Given the description of an element on the screen output the (x, y) to click on. 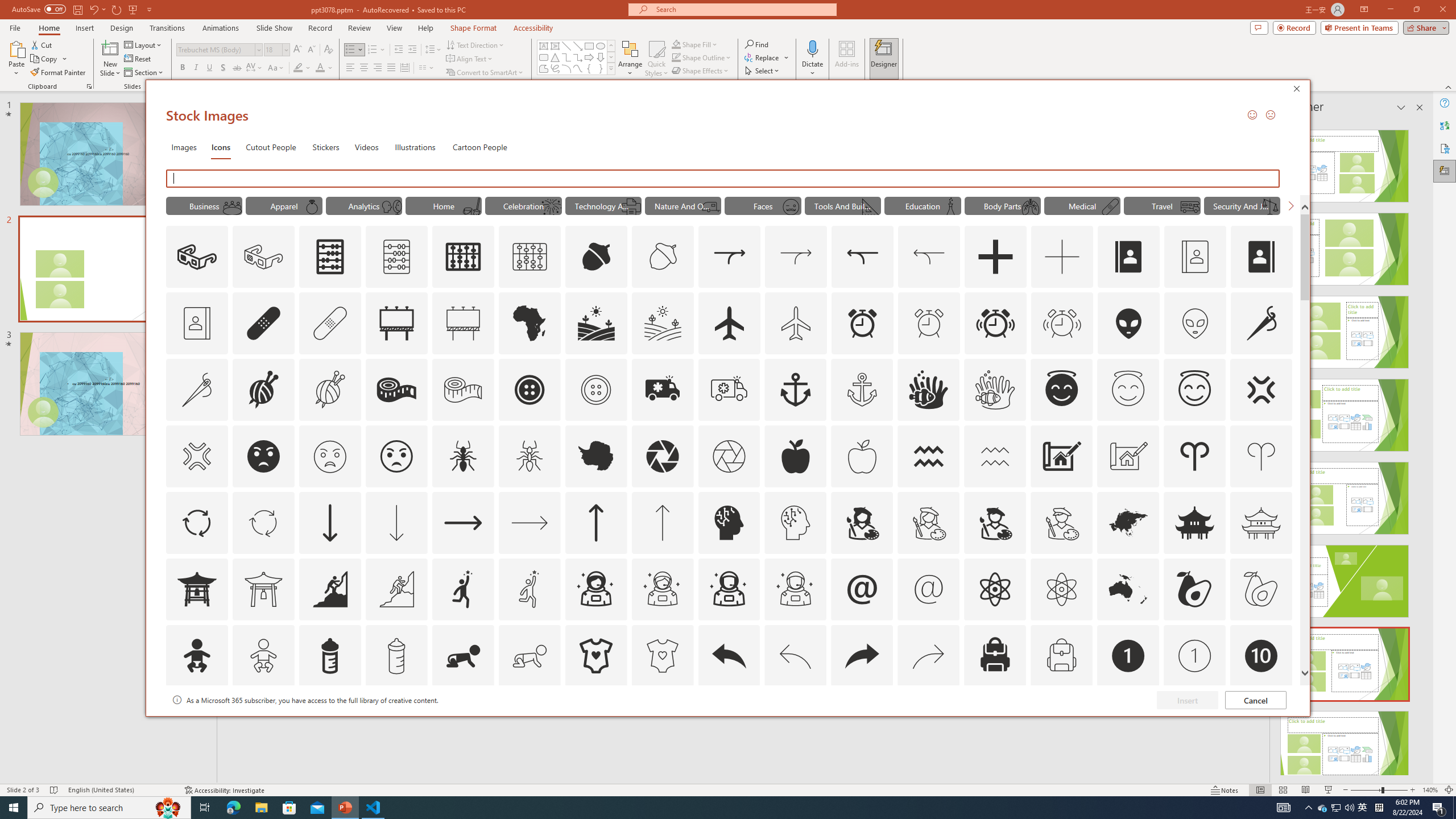
AutomationID: Icons_3dGlasses (197, 256)
Vertical Text Box (554, 45)
Increase Indent (412, 49)
AutomationID: Icons_Apple_M (861, 455)
